Given the description of an element on the screen output the (x, y) to click on. 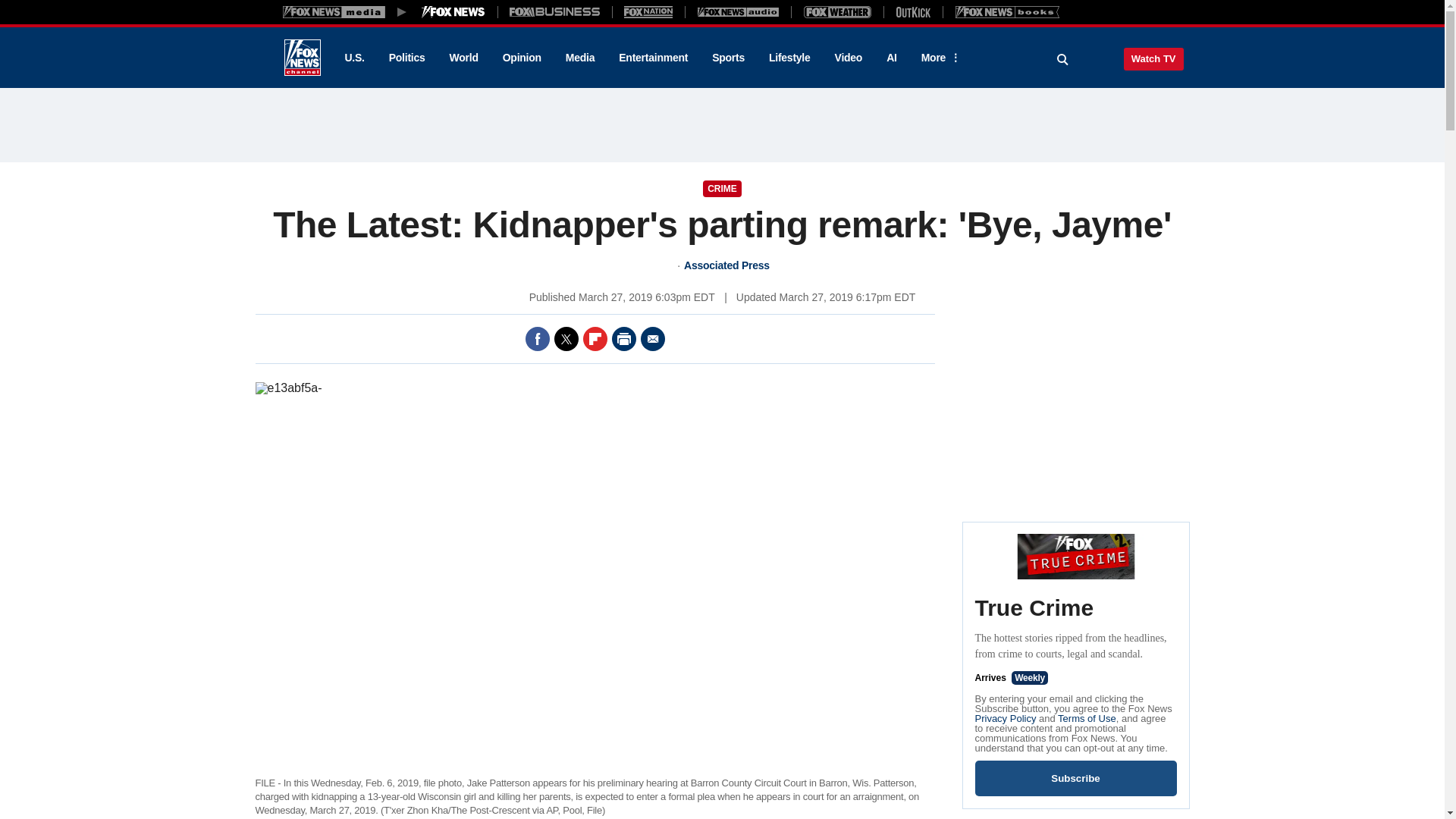
World (464, 57)
Entertainment (653, 57)
Video (848, 57)
Fox Business (554, 11)
Fox Weather (836, 11)
Media (580, 57)
Fox News Audio (737, 11)
U.S. (353, 57)
Books (1007, 11)
More (938, 57)
Fox Nation (648, 11)
Fox News (301, 57)
AI (891, 57)
Outkick (912, 11)
Sports (728, 57)
